Given the description of an element on the screen output the (x, y) to click on. 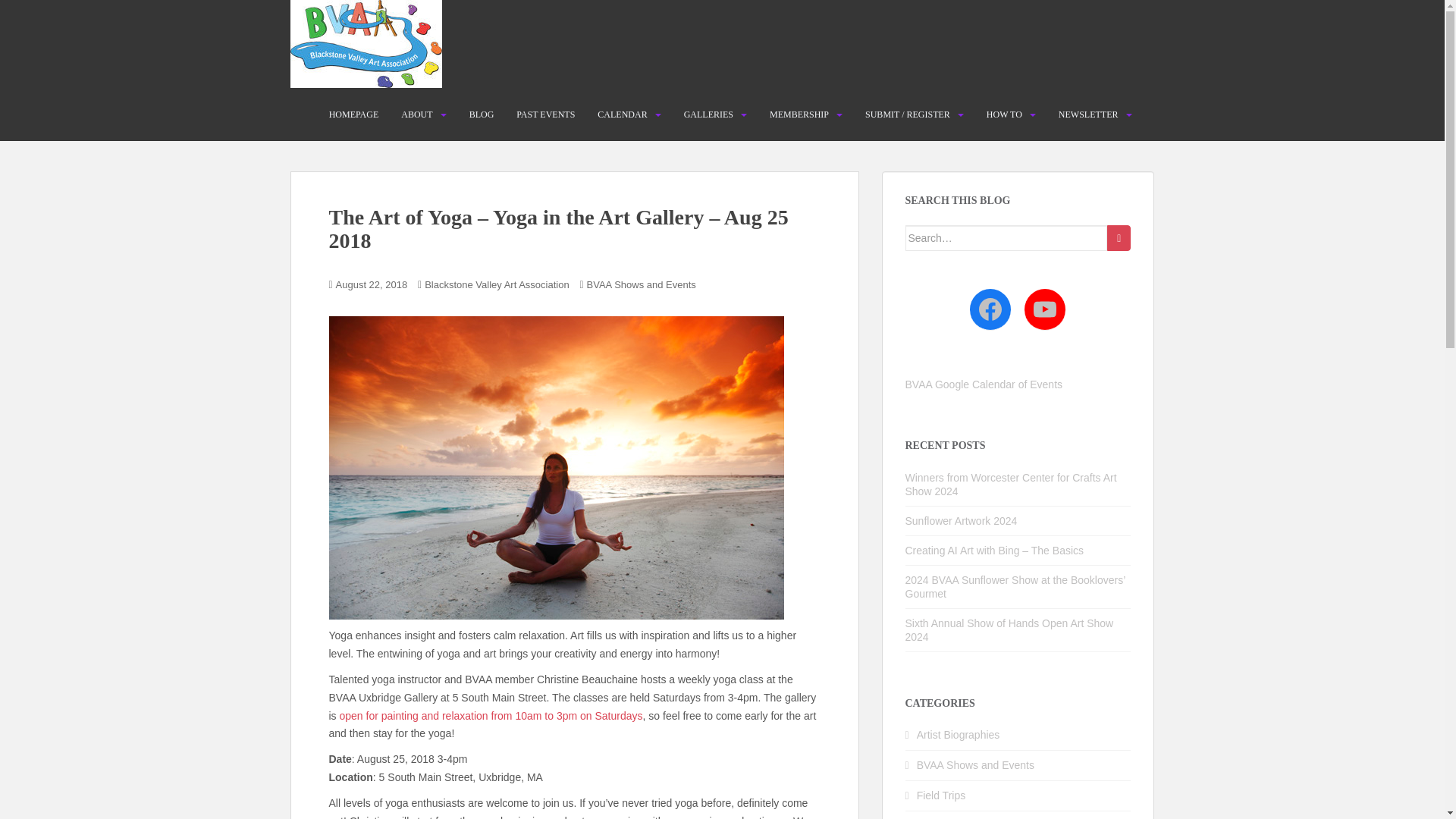
Search for: (1006, 237)
GALLERIES (708, 114)
MEMBERSHIP (799, 114)
HOW TO (1004, 114)
HOMEPAGE (353, 114)
ABOUT (416, 114)
BLOG (481, 114)
PAST EVENTS (545, 114)
CALENDAR (621, 114)
